Given the description of an element on the screen output the (x, y) to click on. 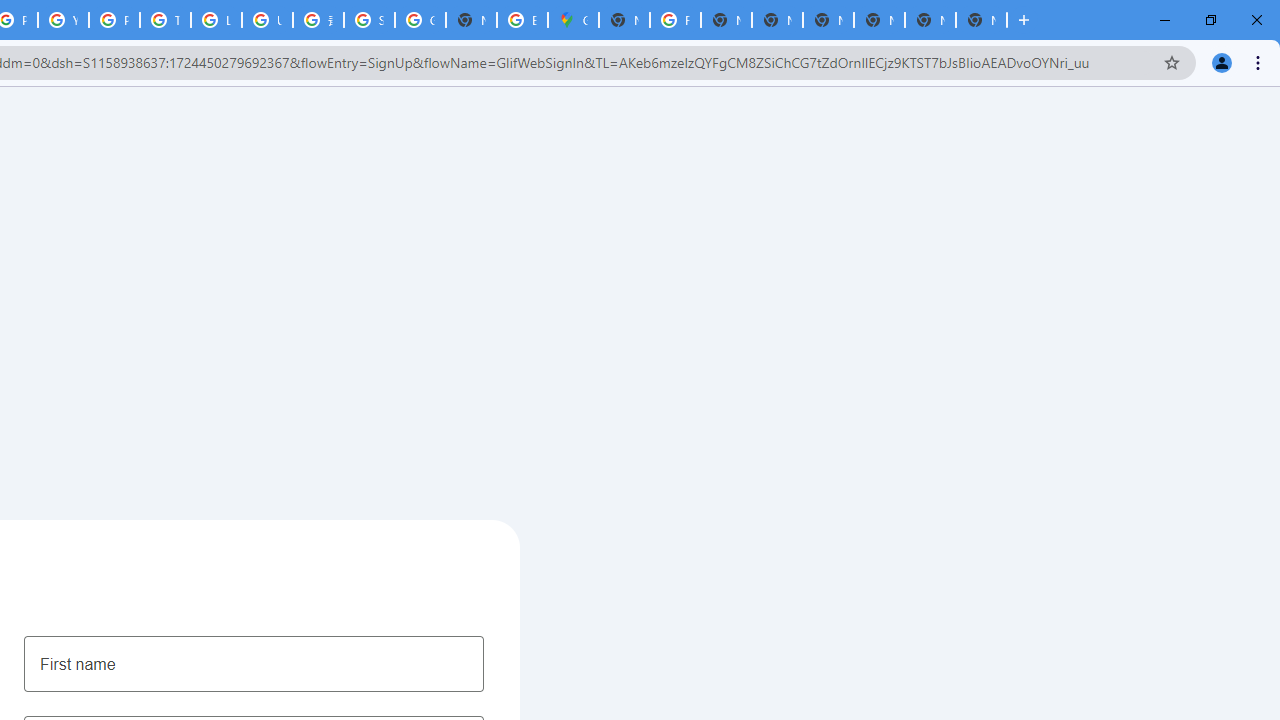
Sign in - Google Accounts (369, 20)
Google Maps (573, 20)
Minimize (1165, 20)
You (1221, 62)
New Tab (878, 20)
YouTube (63, 20)
New Tab (1023, 20)
Restore (1210, 20)
First name (253, 663)
New Tab (981, 20)
Tips & tricks for Chrome - Google Chrome Help (164, 20)
Chrome (1260, 62)
